Given the description of an element on the screen output the (x, y) to click on. 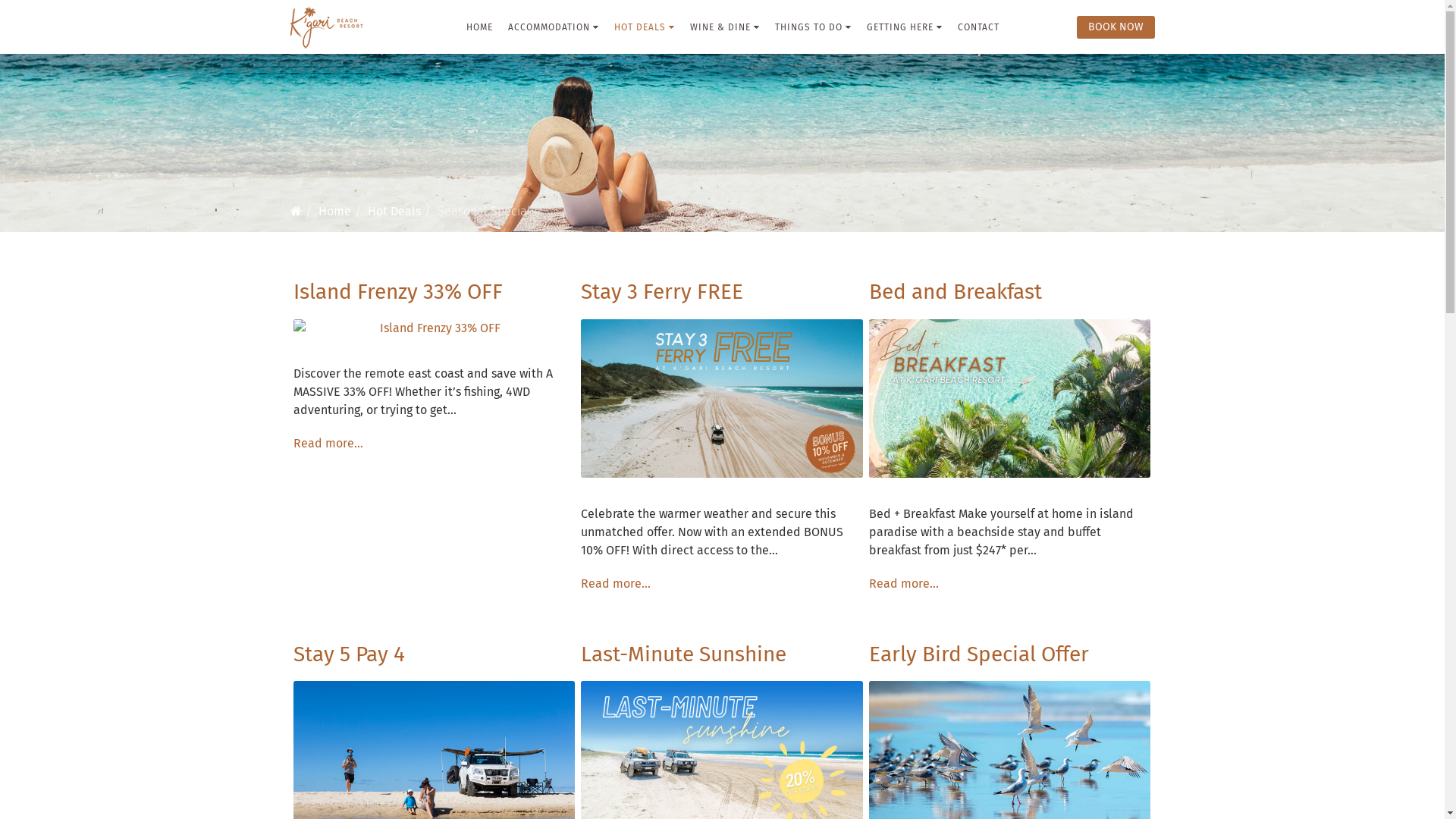
HOME Element type: text (478, 26)
ACCOMMODATION Element type: text (553, 26)
Stay 5 Pay 4 Element type: text (348, 653)
Hot Deals Element type: text (393, 210)
WINE & DINE Element type: text (724, 26)
Early Bird Special Offer Element type: text (978, 653)
CONTACT Element type: text (977, 26)
Home Element type: text (334, 210)
Read more... Element type: text (615, 583)
Stay 3 Ferry FREE Element type: hover (721, 398)
BOOK NOW Element type: text (1115, 26)
HOT DEALS Element type: text (644, 26)
Island Frenzy 33% OFF Element type: text (397, 291)
Stay 3 Ferry FREE Element type: text (661, 291)
Read more... Element type: text (327, 443)
THINGS TO DO Element type: text (813, 26)
GETTING HERE Element type: text (903, 26)
Read more... Element type: text (903, 583)
Bed and Breakfast Element type: hover (1010, 398)
Island Frenzy 33% OFF Element type: hover (433, 328)
Bed and Breakfast Element type: text (955, 291)
Last-Minute Sunshine Element type: text (683, 653)
